Given the description of an element on the screen output the (x, y) to click on. 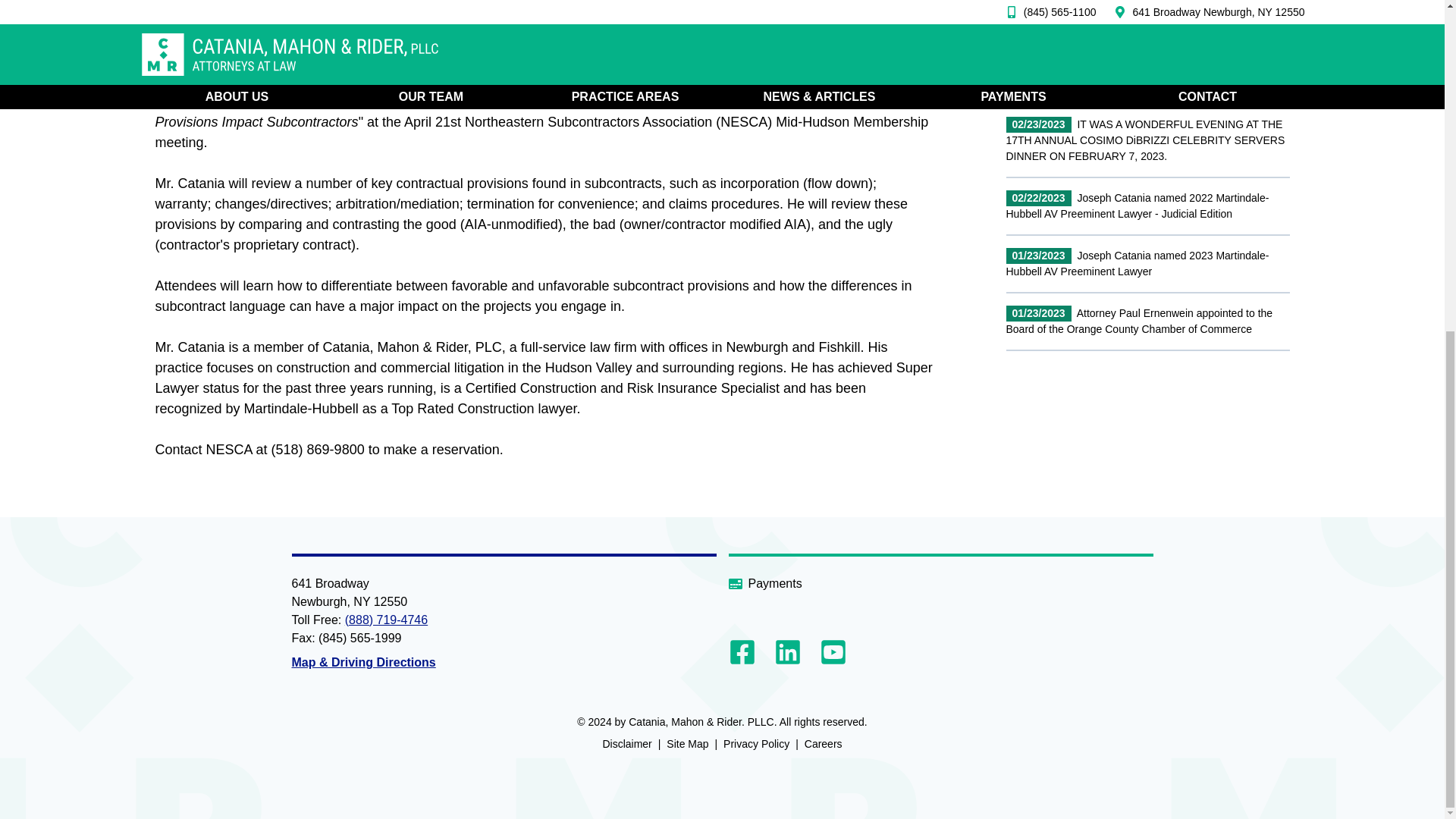
CMR Toll-Free Phone Number (386, 619)
Privacy Policy (756, 743)
Link to Privacy Policy Page (756, 743)
Disclaimer (626, 743)
Site Map (686, 743)
Careers (824, 743)
Link to Careers Page (824, 743)
Link to Page with Driving Directions (363, 662)
Mr. Michael Catania, Esq. (232, 100)
Link to Disclaimer Page (626, 743)
Link to Site Map Page (686, 743)
Payments (940, 583)
Link to CMR Payments Page (940, 583)
